Given the description of an element on the screen output the (x, y) to click on. 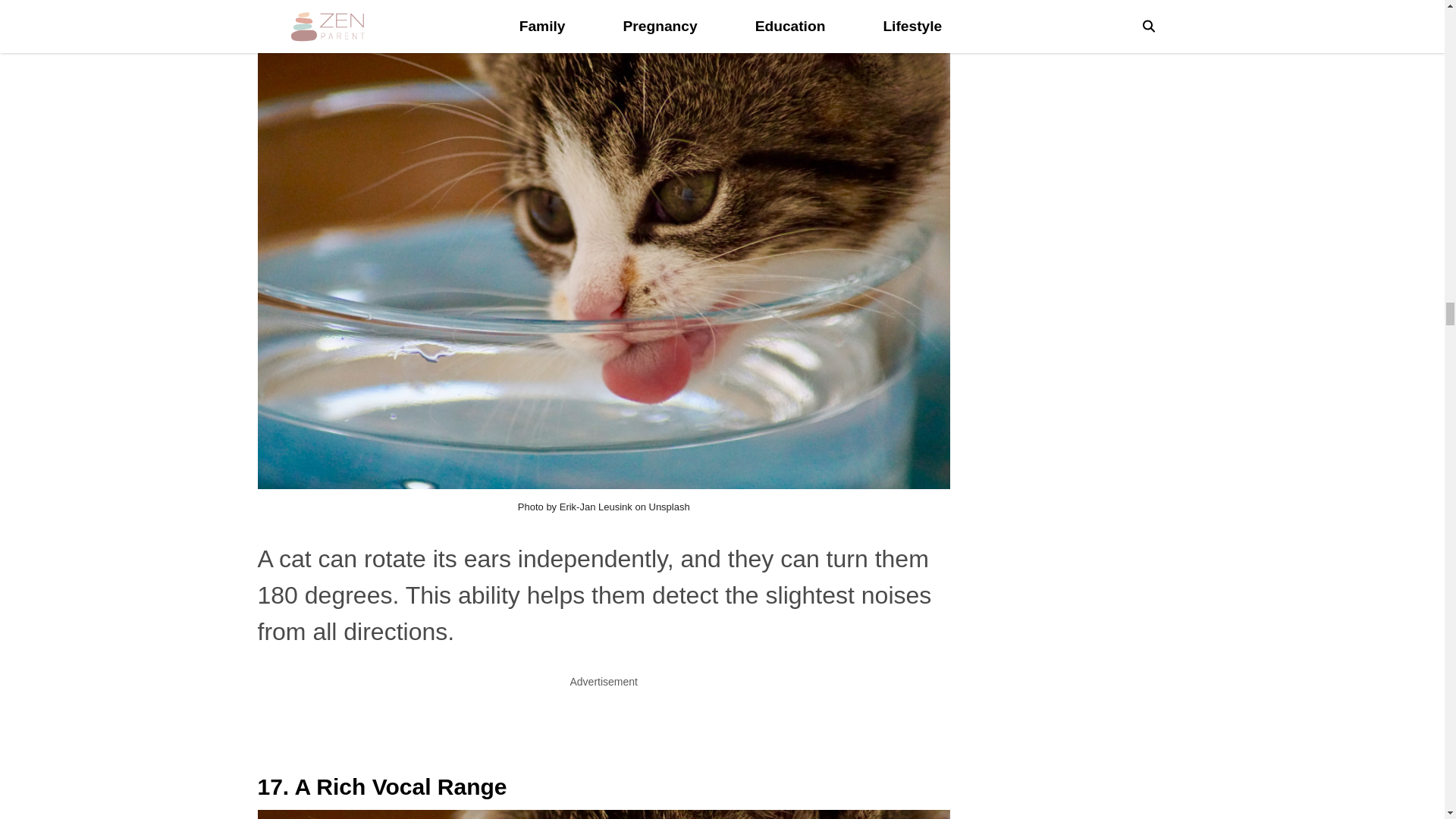
Photo by Erik-Jan Leusink on Unsplash (604, 506)
